Given the description of an element on the screen output the (x, y) to click on. 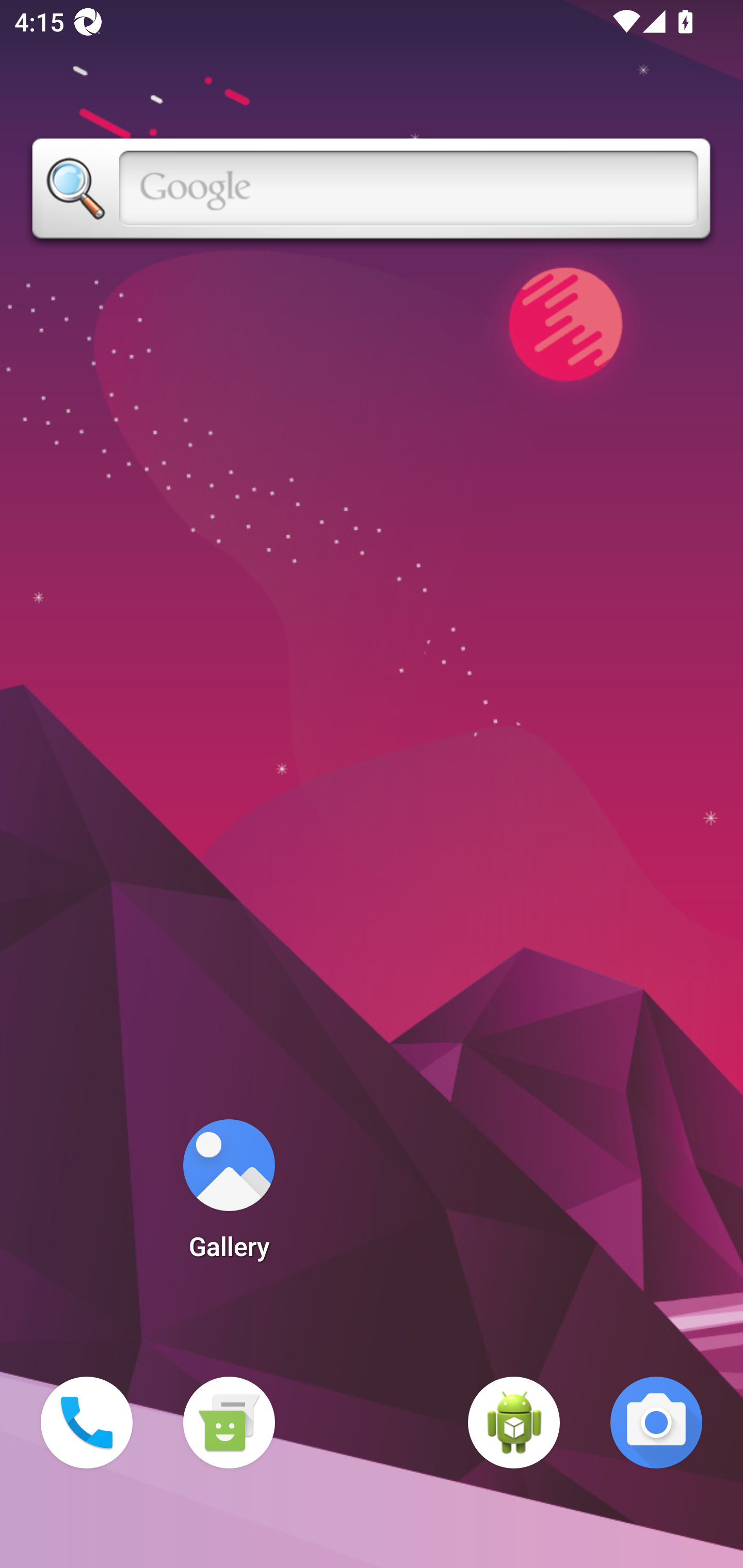
Gallery (228, 1195)
Phone (86, 1422)
Messaging (228, 1422)
WebView Browser Tester (513, 1422)
Camera (656, 1422)
